Given the description of an element on the screen output the (x, y) to click on. 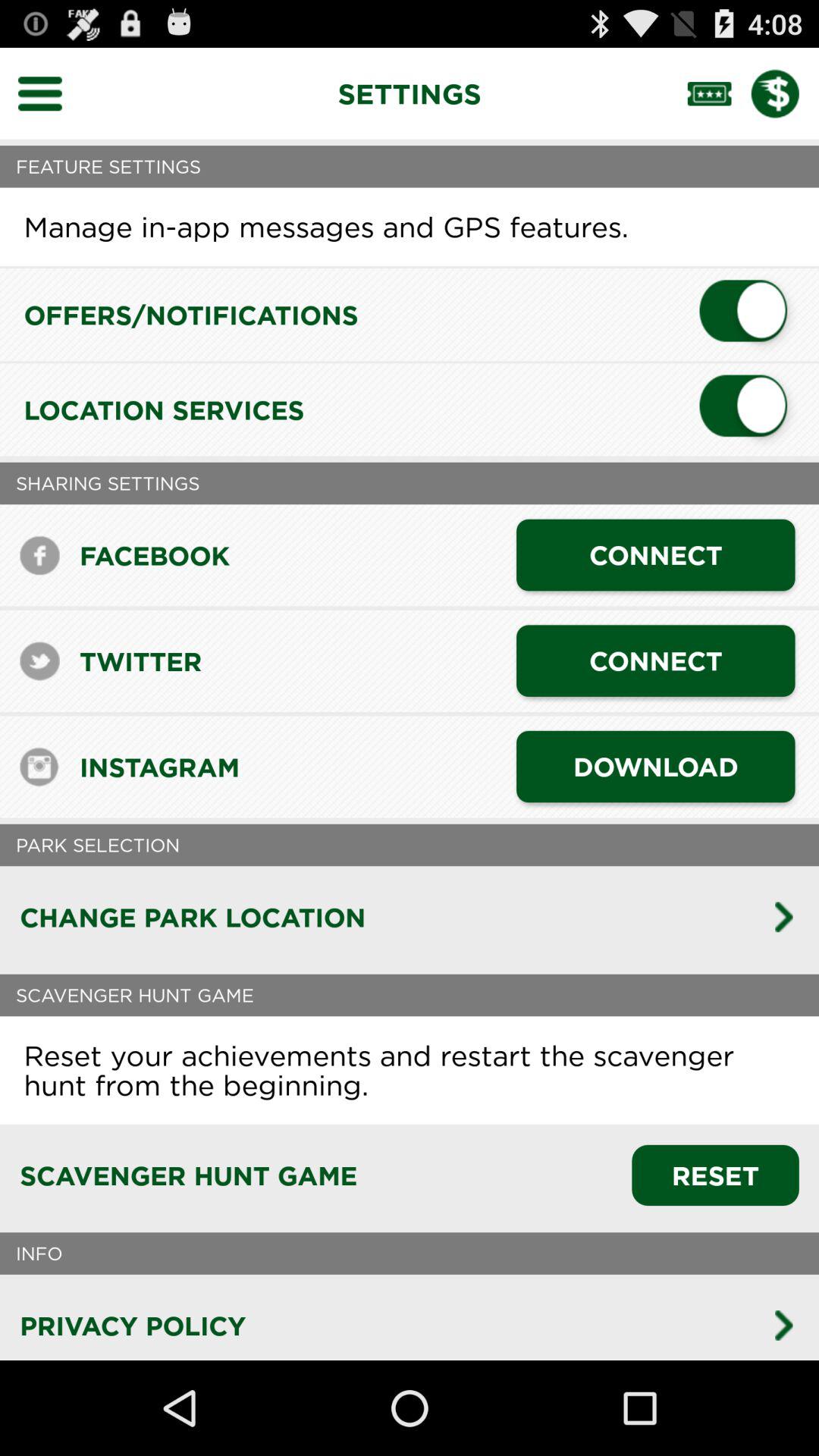
notification toggle on (749, 314)
